Given the description of an element on the screen output the (x, y) to click on. 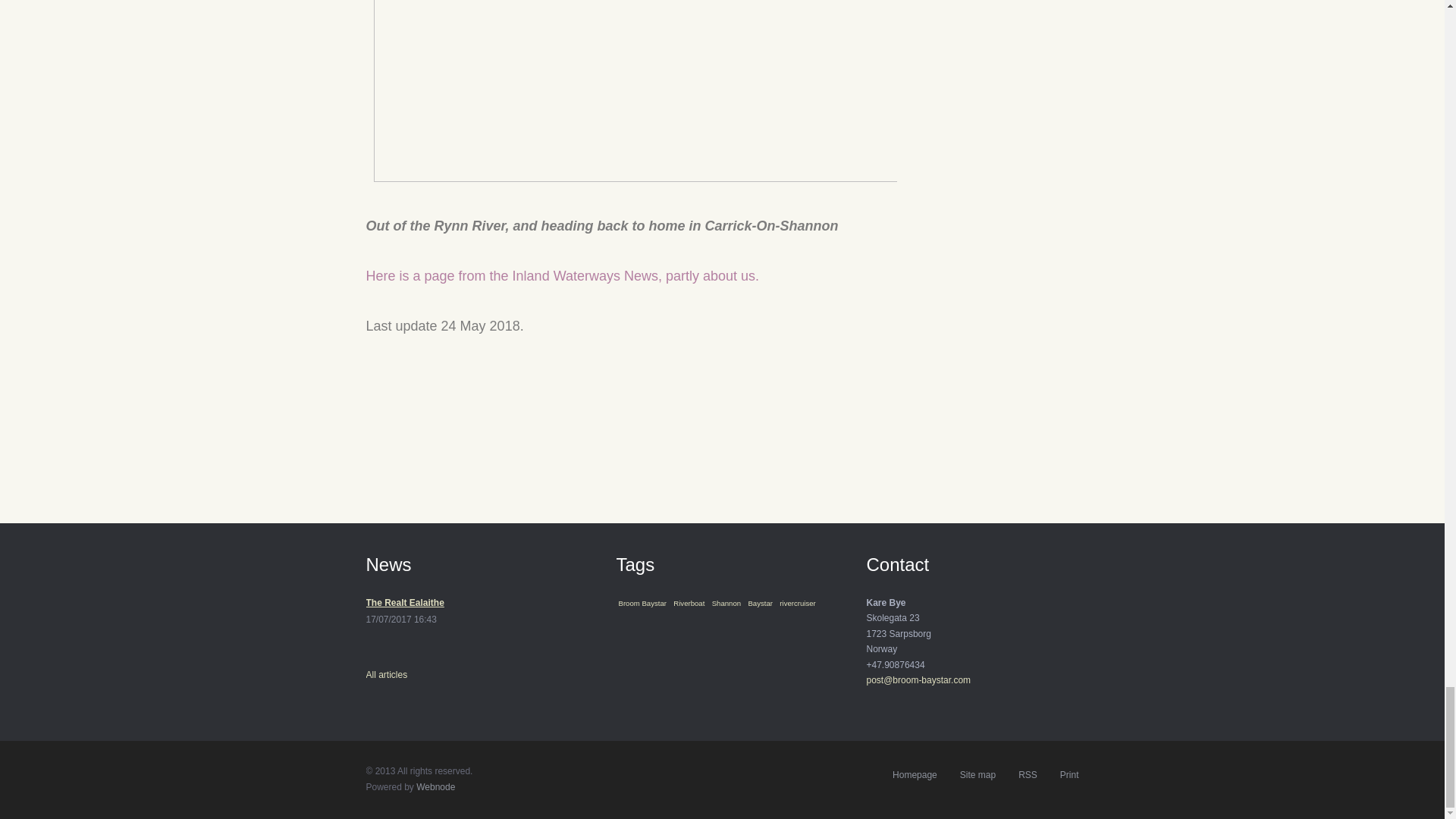
Go to Homepage. (914, 774)
Print page (1068, 774)
RSS Feeds (1026, 774)
This opens the full archive of articles. (386, 674)
Go to site map. (977, 774)
